Given the description of an element on the screen output the (x, y) to click on. 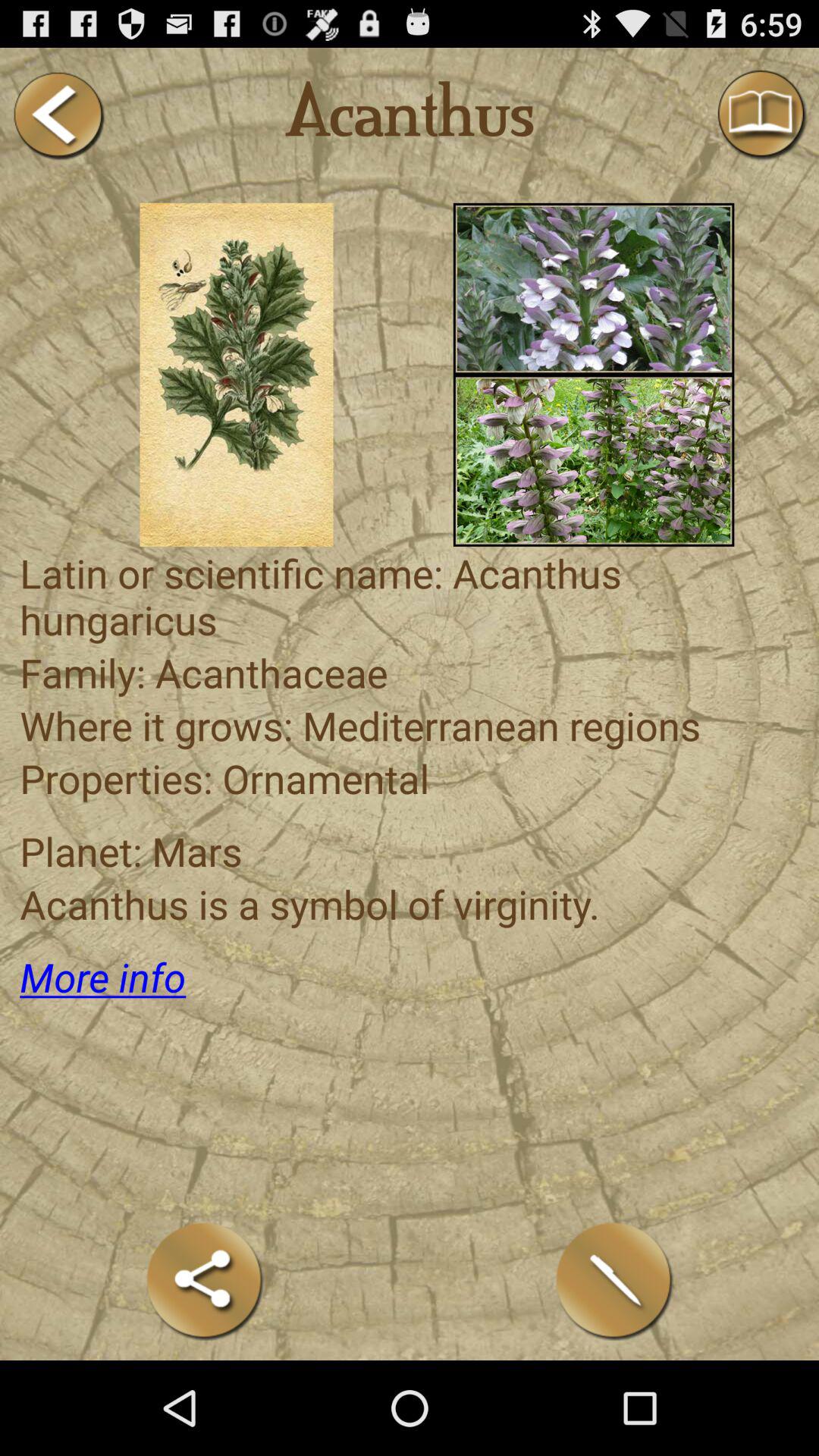
open photo (593, 288)
